Given the description of an element on the screen output the (x, y) to click on. 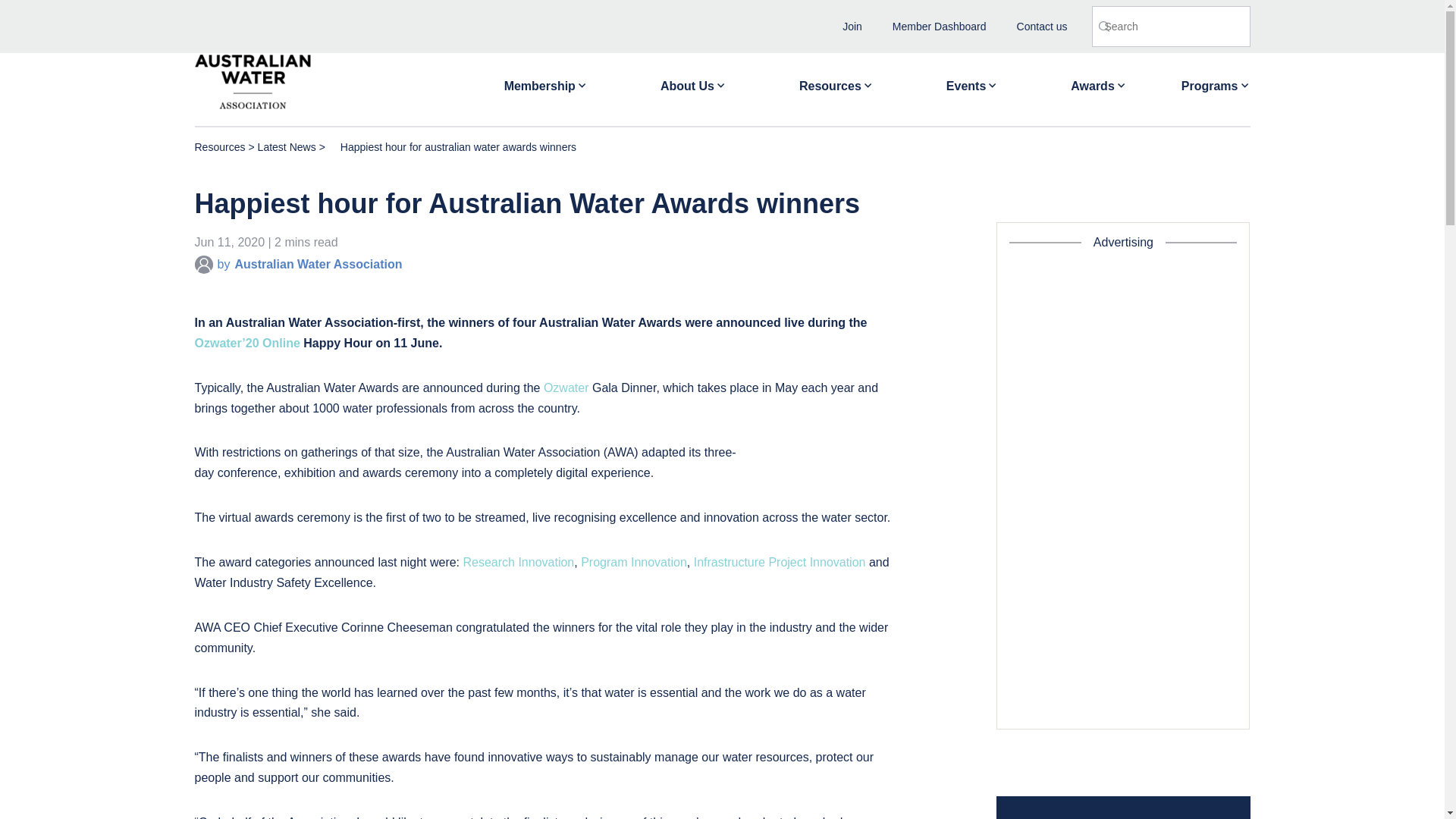
User Icon (202, 264)
Resources (835, 79)
Member Dashboard (939, 26)
About Us (693, 79)
Events (972, 79)
Join (852, 26)
Membership (545, 79)
Contact us (1041, 26)
Awards (1098, 79)
